Given the description of an element on the screen output the (x, y) to click on. 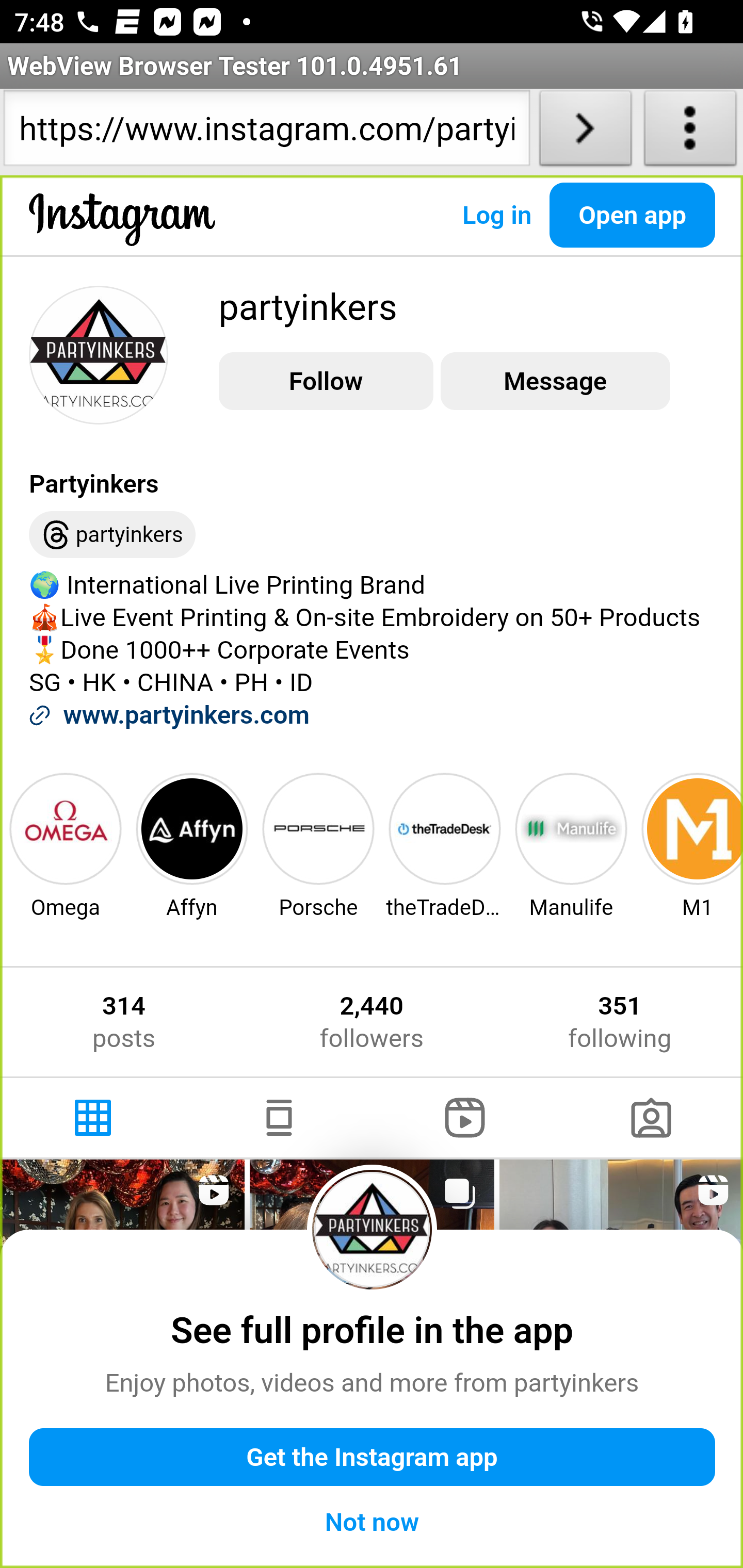
Load URL (585, 132)
About WebView (690, 132)
Log in (495, 214)
Open app (632, 214)
Instagram Instagram Instagram Instagram (122, 234)
partyinkers's profile picture (98, 353)
Follow (325, 381)
Message (554, 381)
Threads partyinkers Threads partyinkers (112, 535)
www.partyinkers.com (185, 714)
M1's profile picture M1 M1's profile picture M1 (690, 844)
314 posts (124, 1021)
2,440 followers (371, 1021)
351 following (619, 1021)
Posts (93, 1117)
Feed (278, 1117)
Reels (465, 1117)
Tagged (649, 1117)
partyinkers's profile picture (372, 1229)
Get the Instagram app (372, 1458)
Not now (372, 1521)
